Given the description of an element on the screen output the (x, y) to click on. 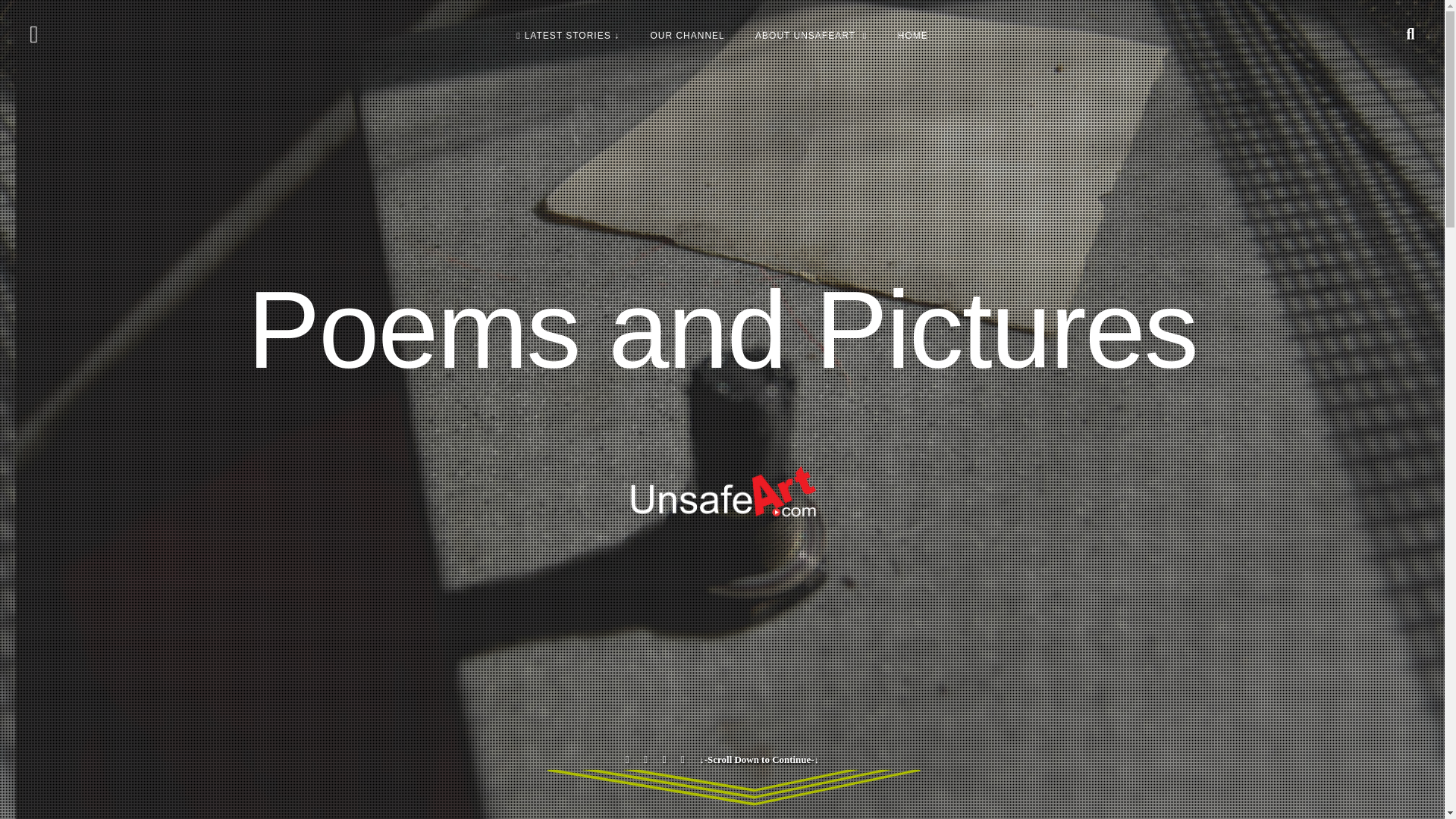
Home or Most Recent Posts Page (567, 34)
HOME (912, 34)
Instagram (664, 758)
Twitter (645, 758)
YouTube (682, 758)
Facebook (627, 758)
OUR CHANNEL (687, 34)
YouTube (682, 758)
Facebook (627, 758)
Scroll Down to Continue (759, 758)
Instagram (664, 758)
Poems and Pictures (721, 330)
ABOUT UNSAFEART (810, 34)
Twitter (645, 758)
